Given the description of an element on the screen output the (x, y) to click on. 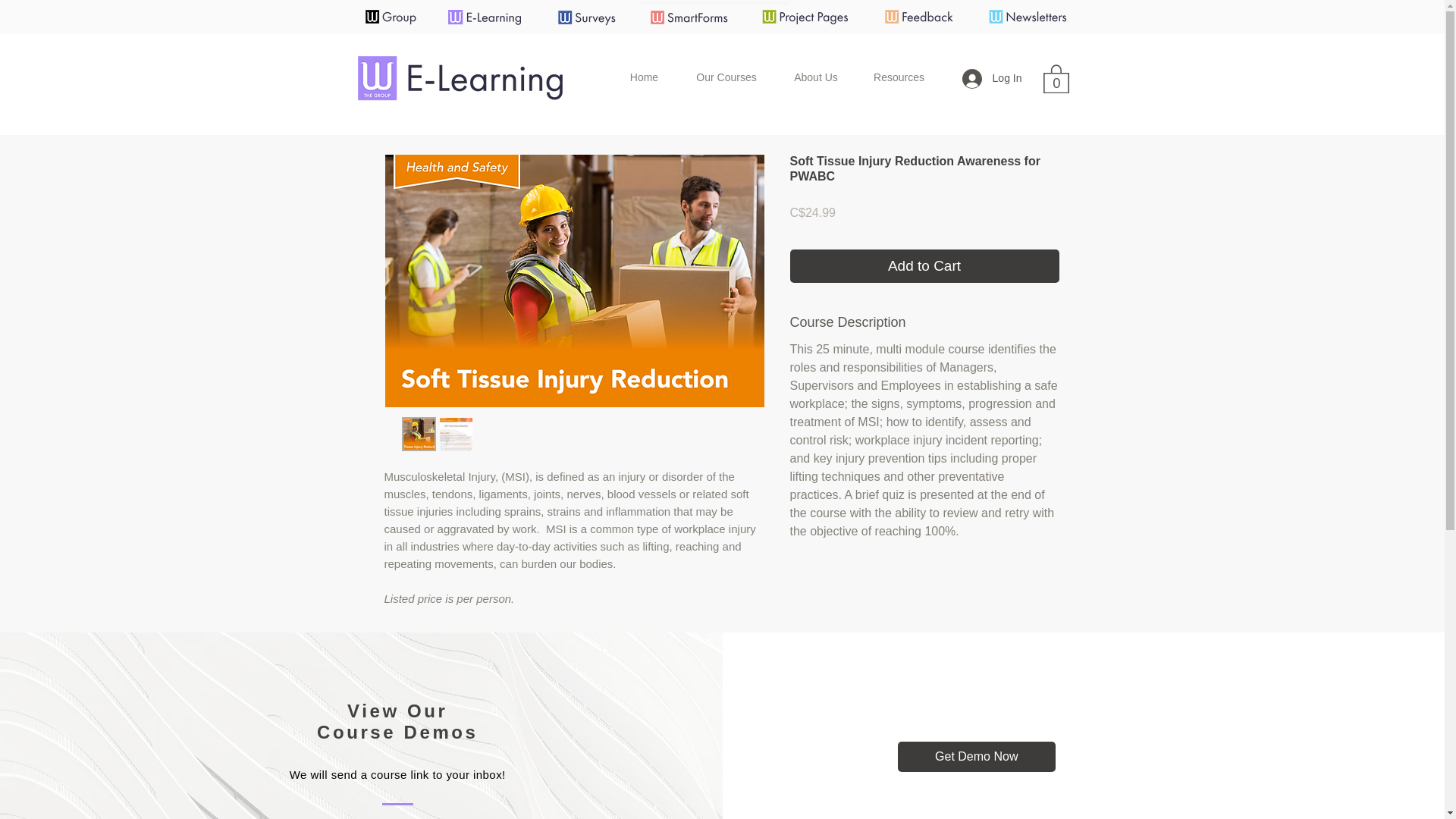
Log In (992, 78)
Add to Cart (924, 266)
Resources (899, 77)
Get Demo Now (976, 757)
Home (644, 77)
Our Courses (727, 77)
